Given the description of an element on the screen output the (x, y) to click on. 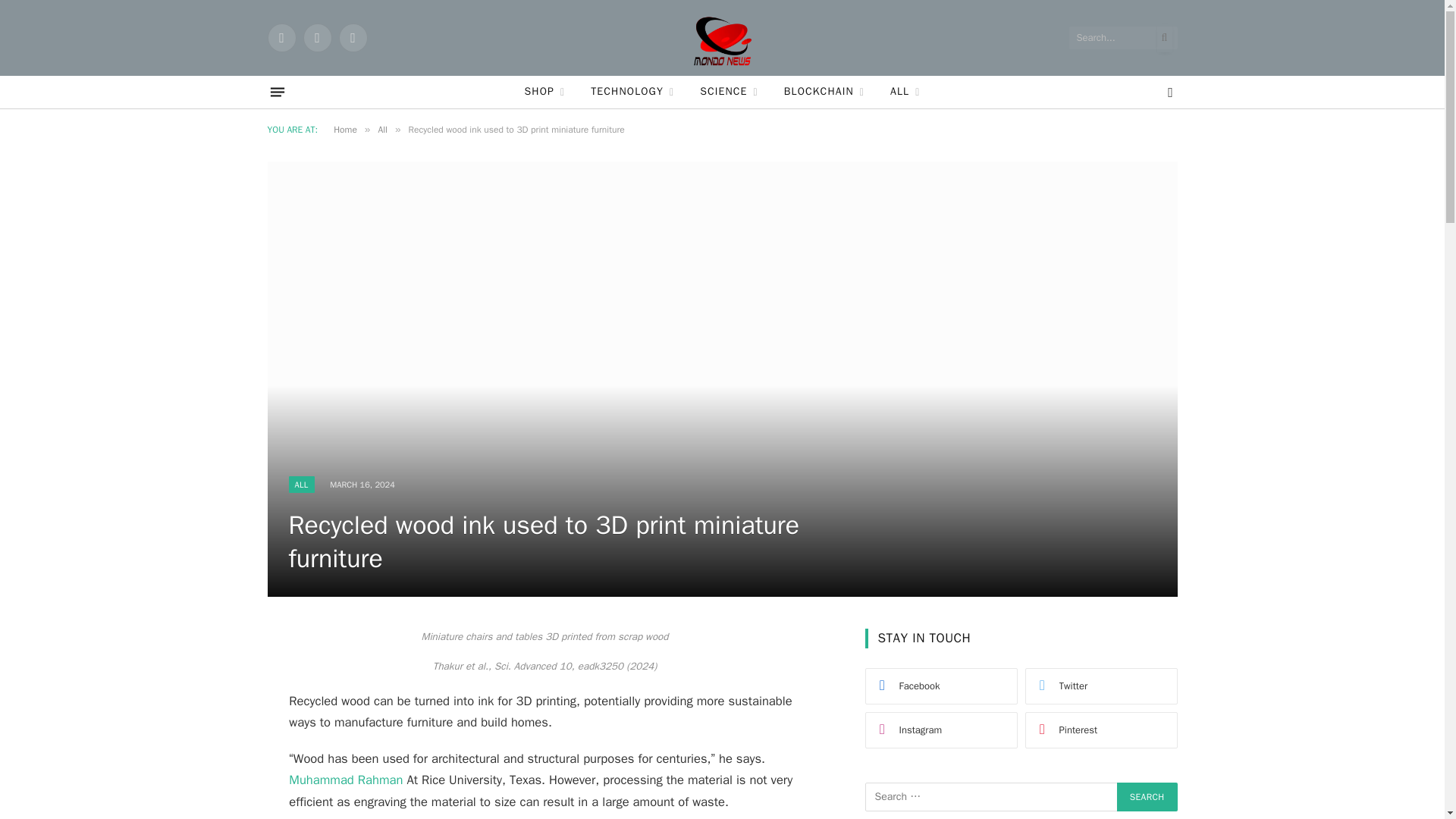
Facebook (280, 37)
Search (1146, 796)
Instagram (351, 37)
TECHNOLOGY (632, 92)
Search (1146, 796)
SHOP (545, 92)
